Given the description of an element on the screen output the (x, y) to click on. 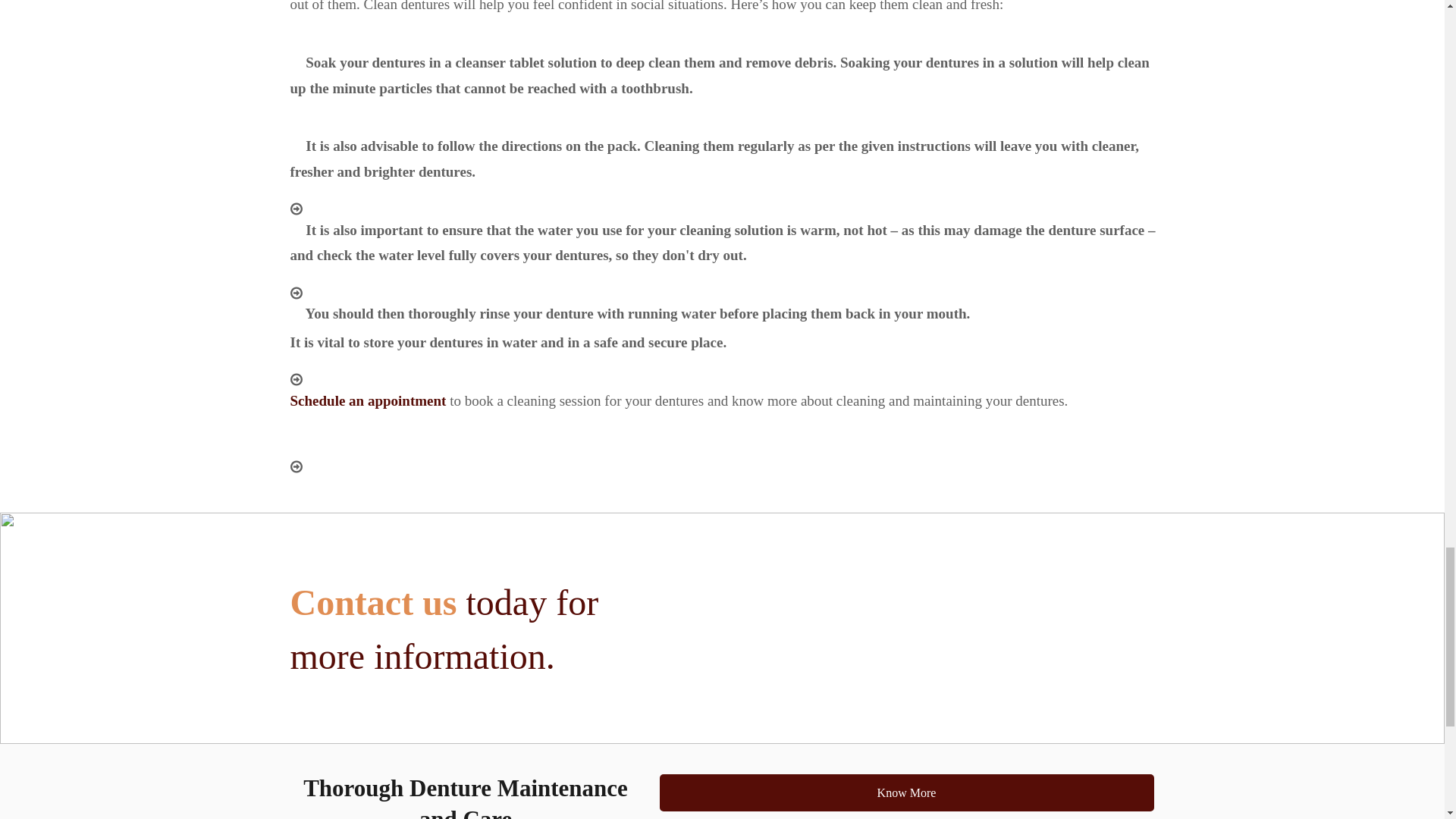
Schedule an appointment (367, 400)
Contact us (373, 602)
Know More (906, 792)
